Given the description of an element on the screen output the (x, y) to click on. 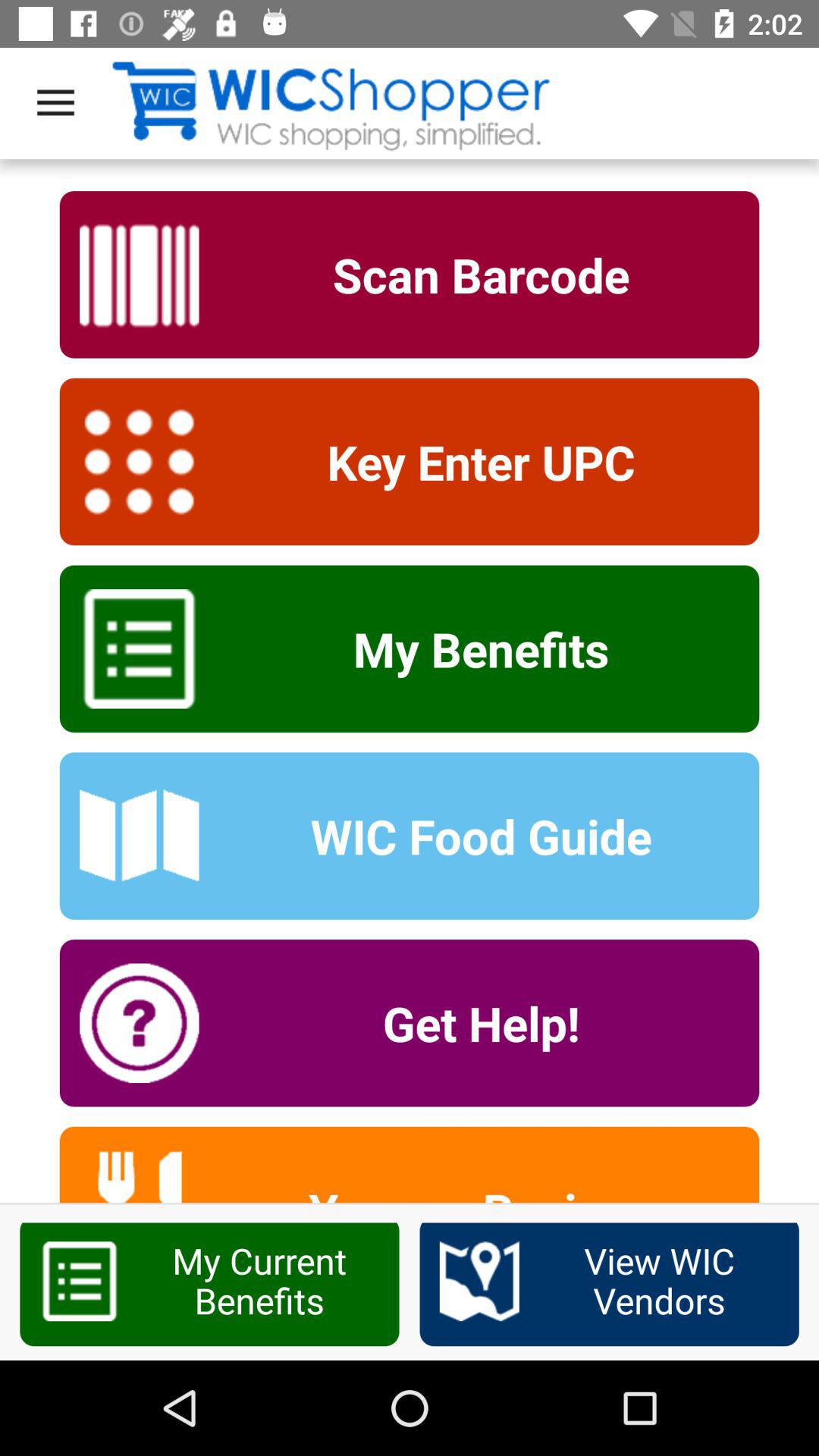
select the key enter upc item (471, 461)
